Given the description of an element on the screen output the (x, y) to click on. 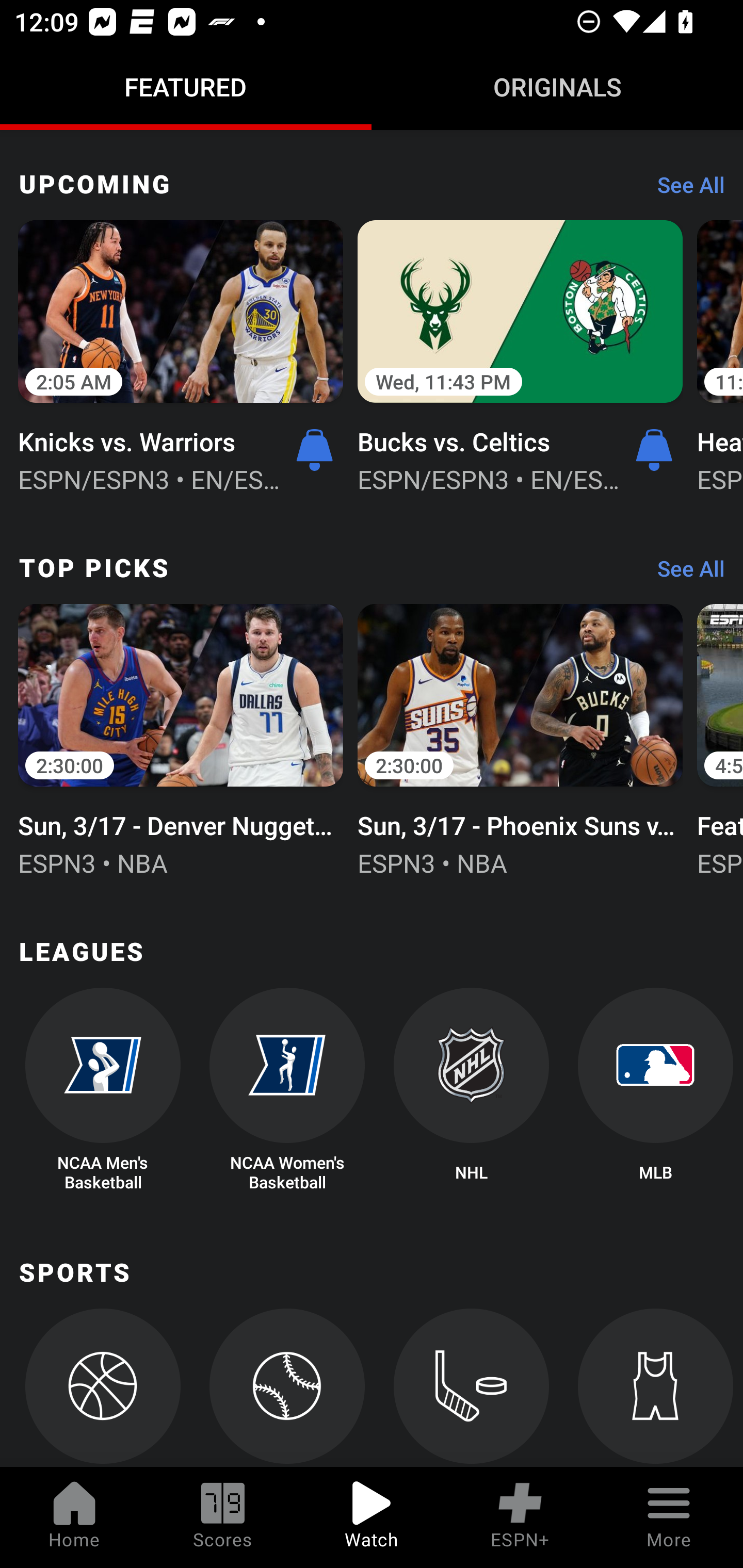
Originals ORIGINALS (557, 86)
See All (683, 189)
See All (683, 573)
NCAA Men's Basketball (102, 1090)
NCAA Women's Basketball (286, 1090)
NHL (471, 1090)
MLB (655, 1090)
Home (74, 1517)
Scores (222, 1517)
ESPN+ (519, 1517)
More (668, 1517)
